Given the description of an element on the screen output the (x, y) to click on. 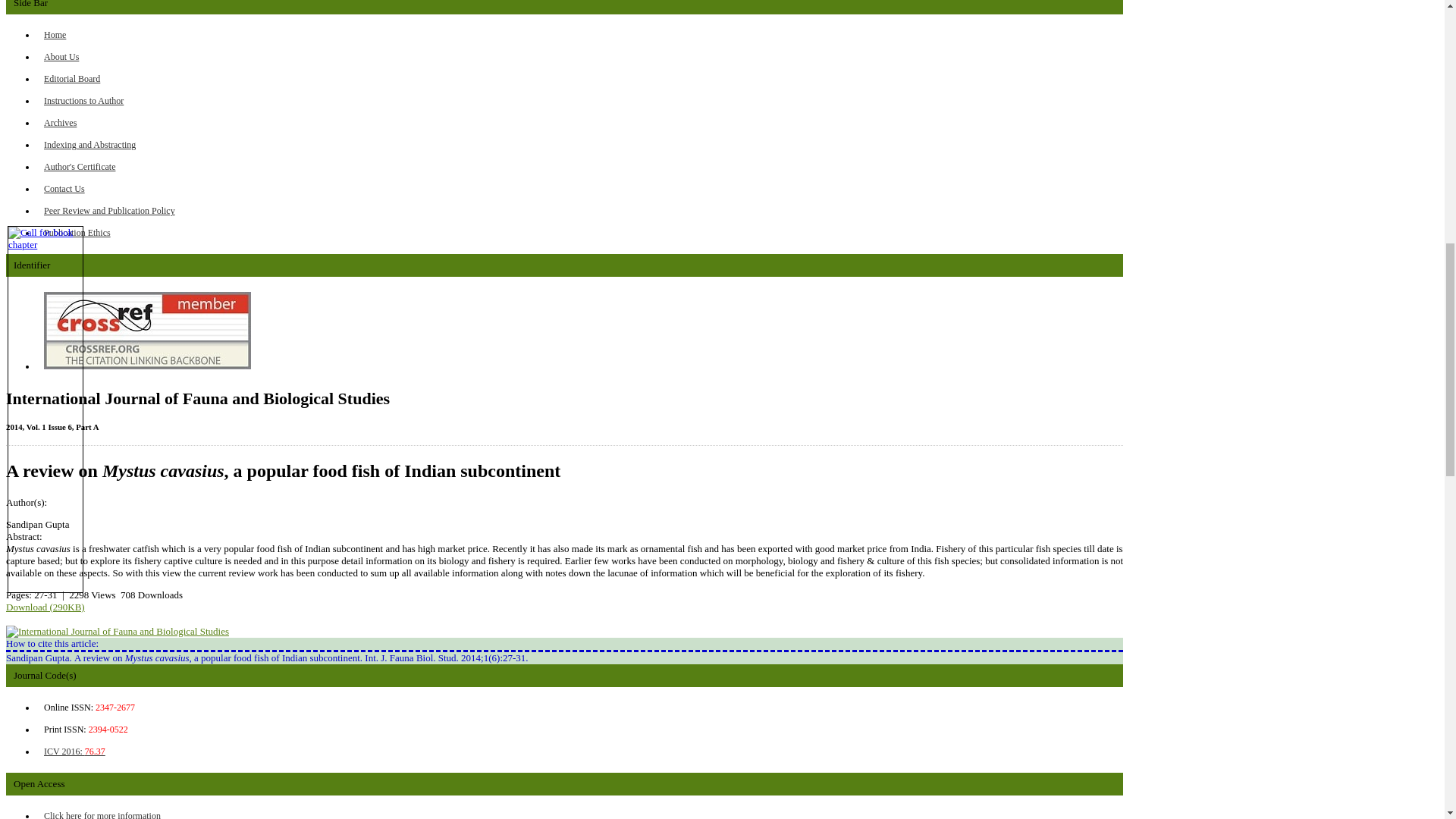
Contact Us (63, 188)
Peer Review and Publication Policy (108, 210)
Home (54, 34)
Archives (60, 122)
Author's Certificate (79, 166)
Publication Ethics (76, 232)
Click here for more information (101, 814)
Instructions to Author (83, 100)
About Us (60, 56)
Editorial Board (71, 78)
